Given the description of an element on the screen output the (x, y) to click on. 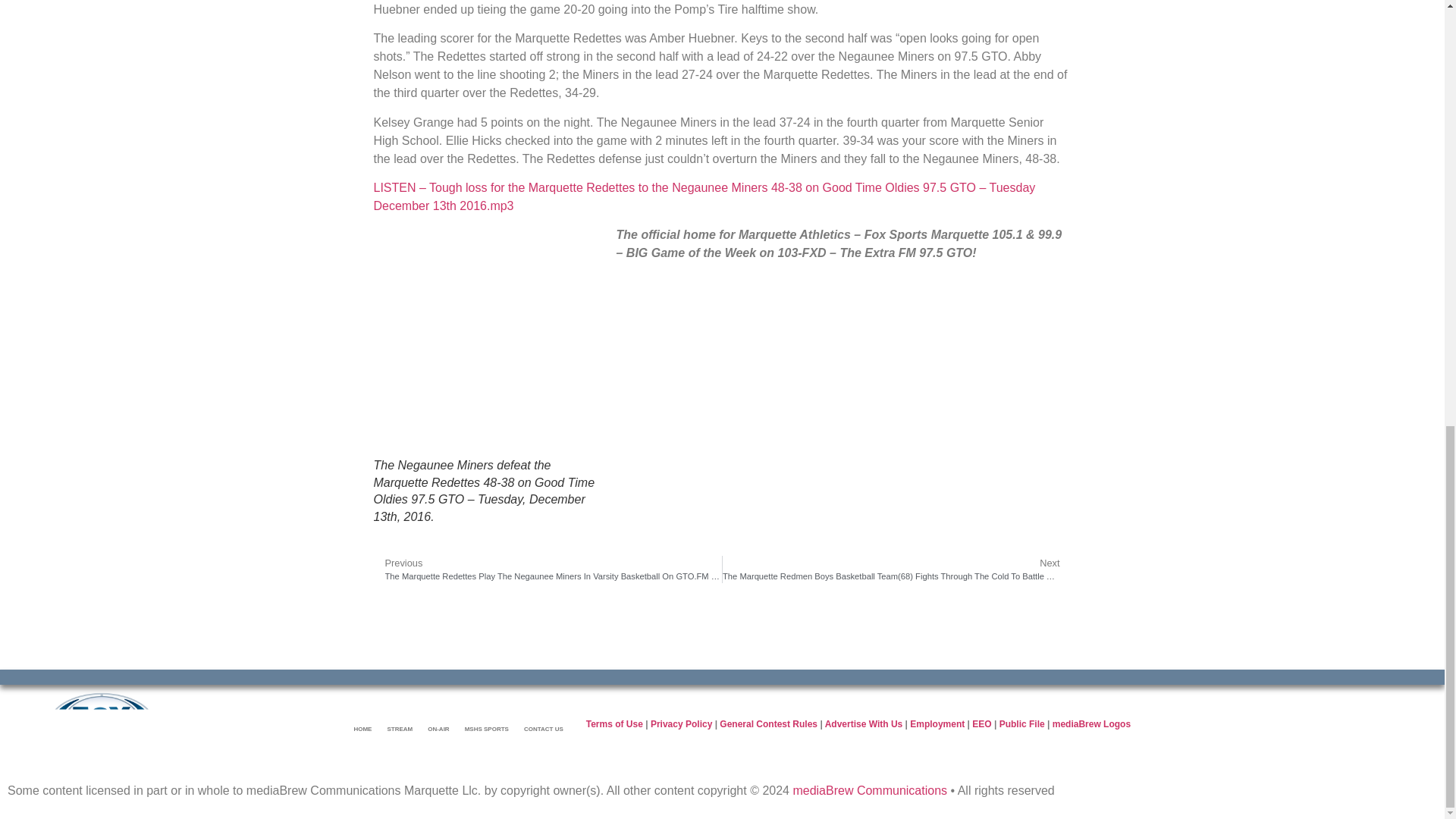
mediaBrew Communications Public File (1021, 724)
mediaBrew Logo Pack (1091, 724)
mediaBrew EEO (981, 724)
mediaBrew Terms of Use (614, 724)
STREAM (399, 728)
mediaBrew Communications Privacy Policy (680, 724)
mediaBrew Employment (936, 724)
Advertise with mediaBrew Communications (863, 724)
mediaBrew General Contest Rules (767, 724)
